Given the description of an element on the screen output the (x, y) to click on. 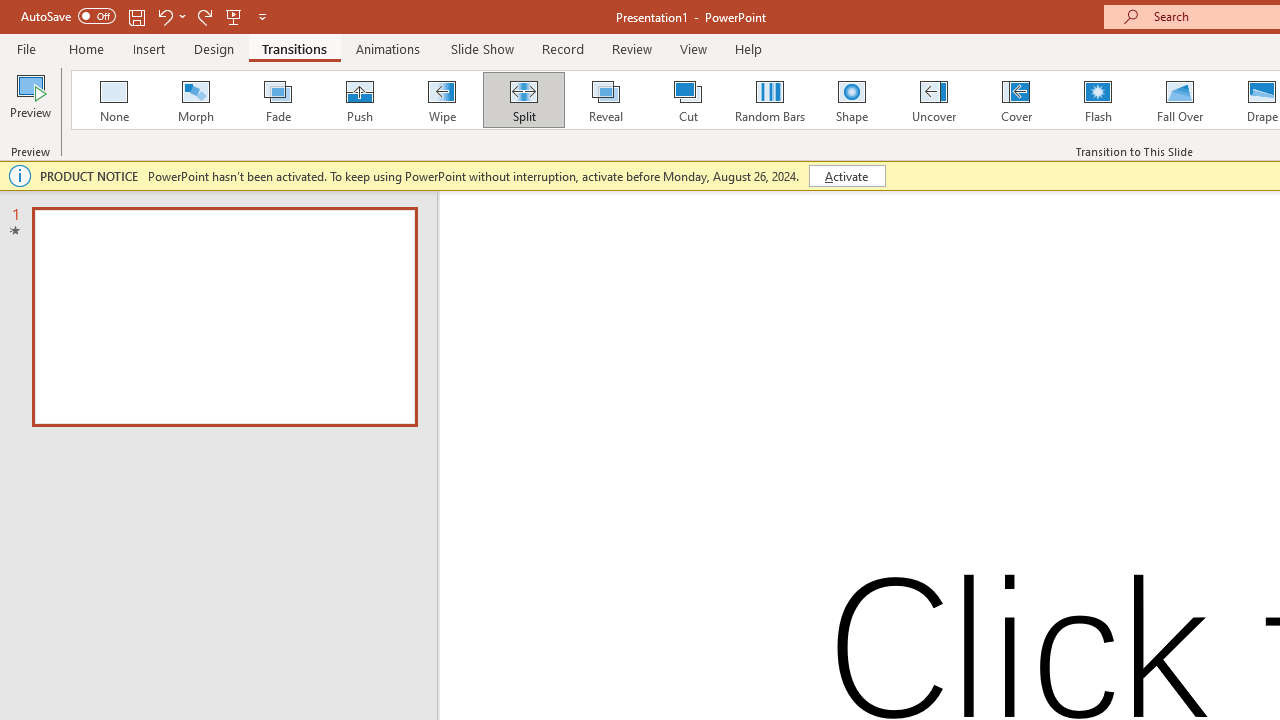
Wipe (441, 100)
Uncover (934, 100)
Reveal (605, 100)
Fade (277, 100)
Shape (852, 100)
Fall Over (1180, 100)
